Given the description of an element on the screen output the (x, y) to click on. 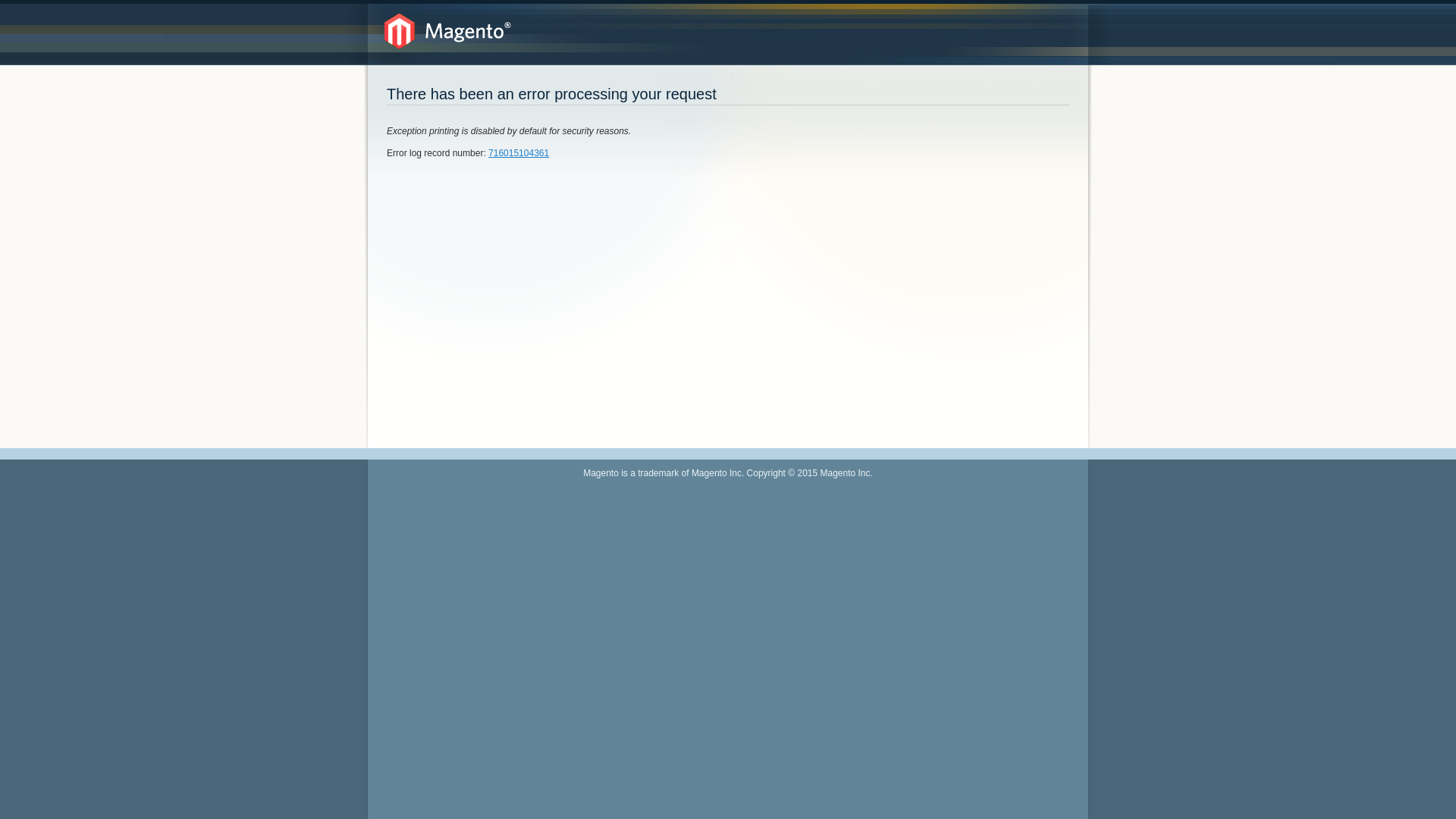
Magento Commerce Element type: hover (447, 31)
716015104361 Element type: text (518, 152)
